Given the description of an element on the screen output the (x, y) to click on. 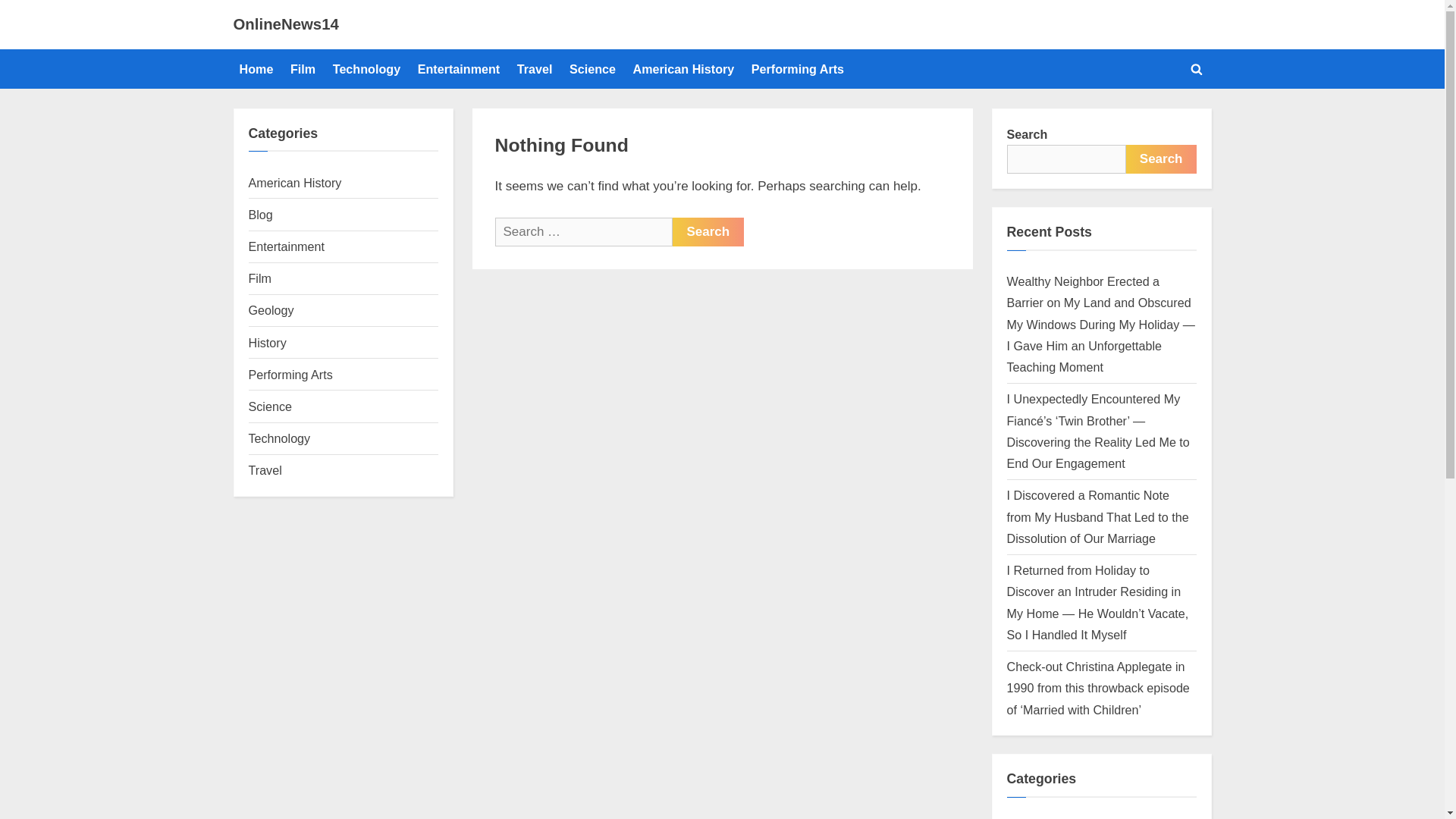
Search (707, 231)
History (267, 342)
Technology (366, 68)
Film (302, 68)
OnlineNews14 (285, 23)
Technology (279, 438)
Science (270, 406)
Film (259, 278)
Toggle search form (1196, 68)
